Given the description of an element on the screen output the (x, y) to click on. 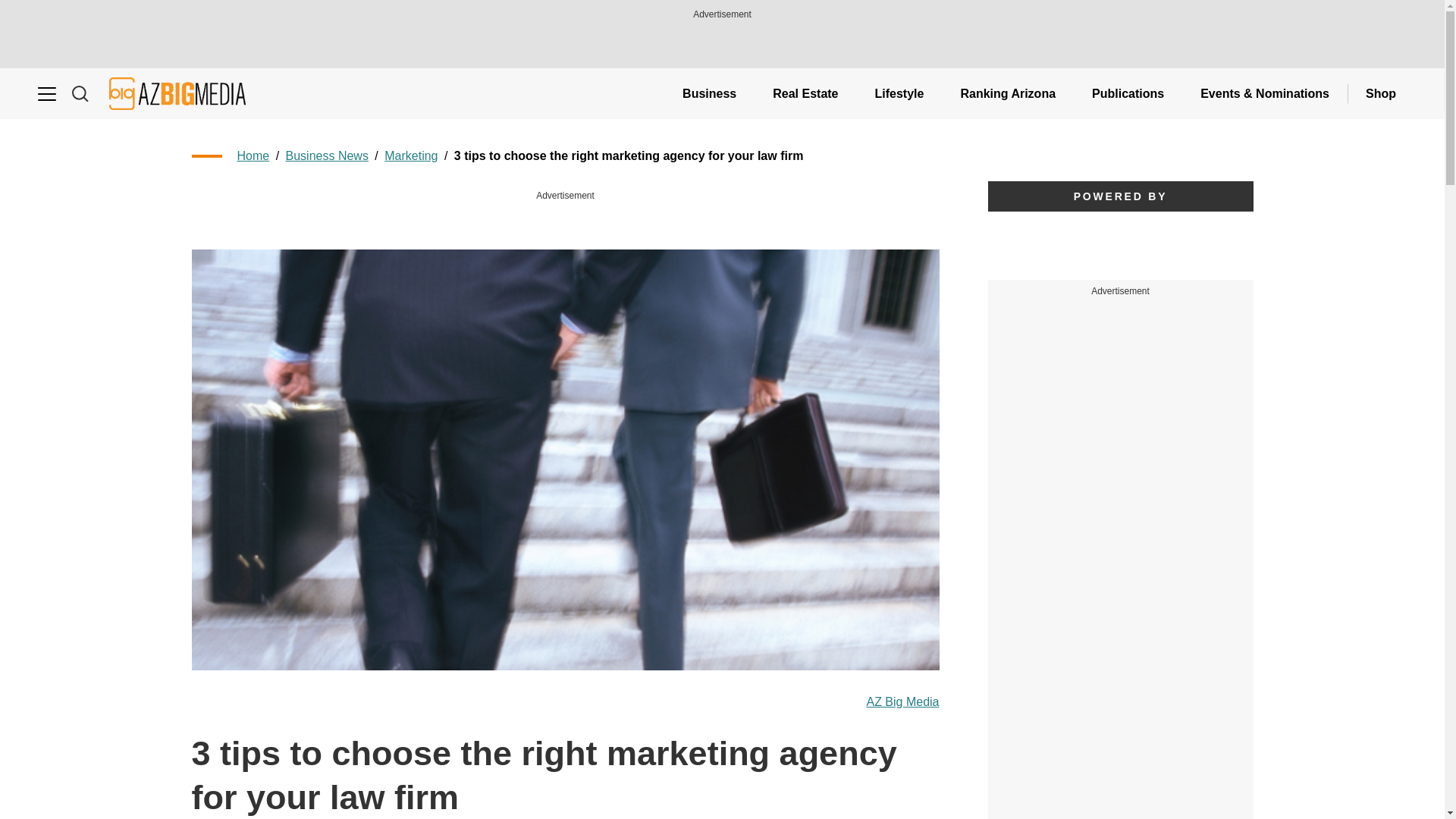
Business (708, 92)
AZ Big Media Logo (177, 92)
Posts by AZ Big Media (902, 702)
